Given the description of an element on the screen output the (x, y) to click on. 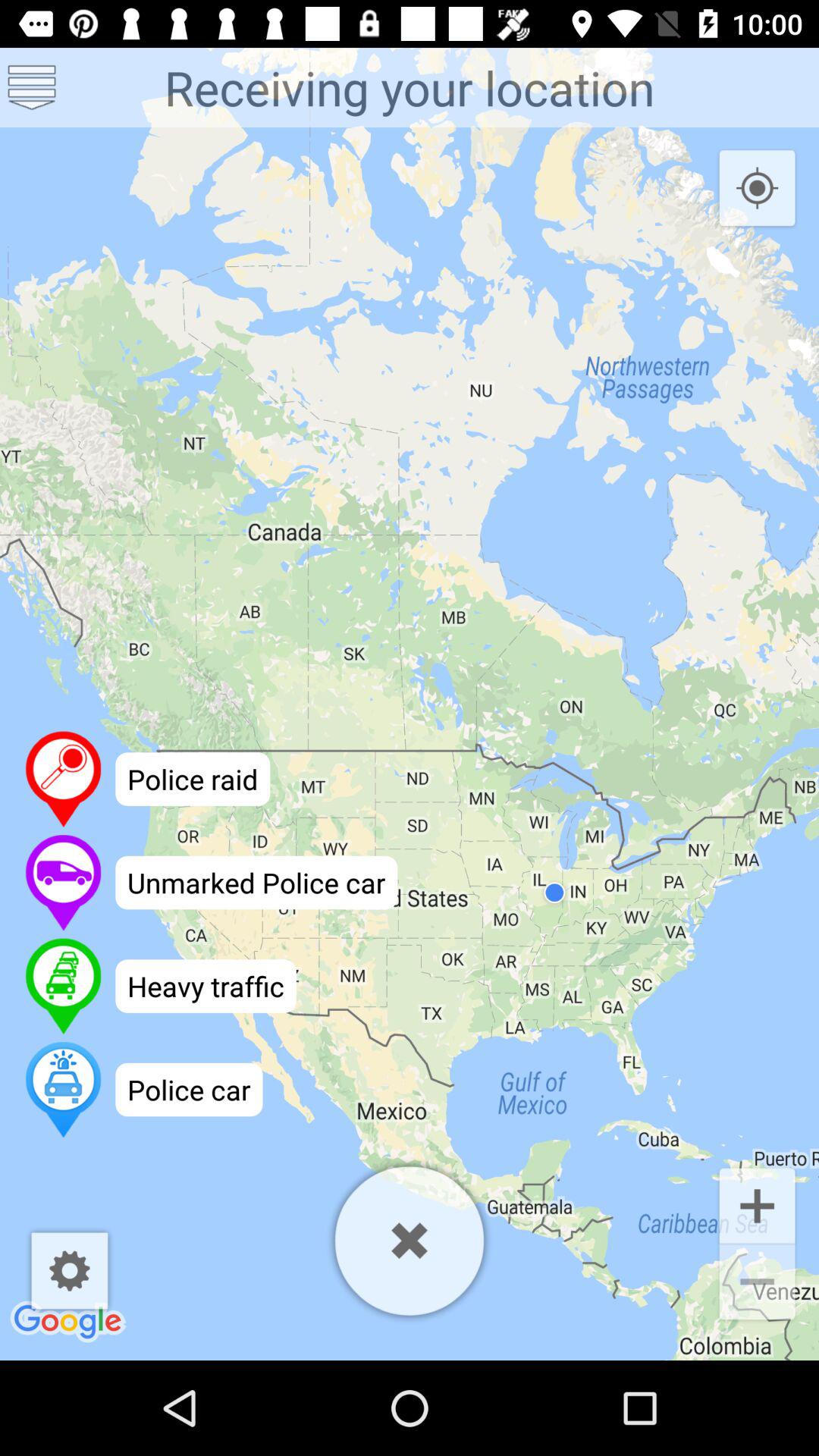
close map (409, 1240)
